Given the description of an element on the screen output the (x, y) to click on. 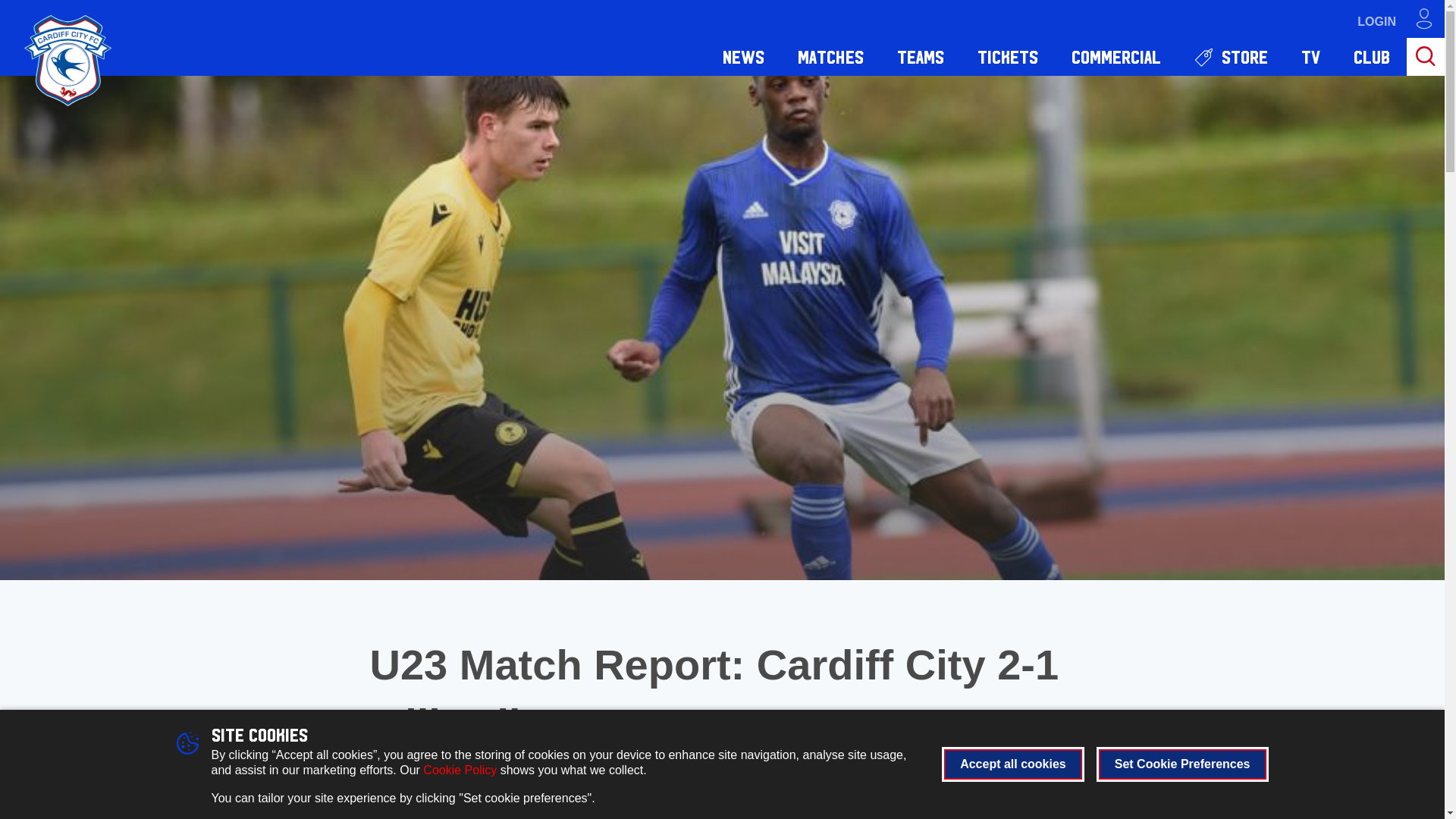
COMMERCIAL (1115, 56)
TEAMS (920, 56)
NEWS (743, 56)
STORE (1230, 56)
MATCHES (830, 56)
TICKETS (1007, 56)
3rd party ad content (1167, 816)
